Given the description of an element on the screen output the (x, y) to click on. 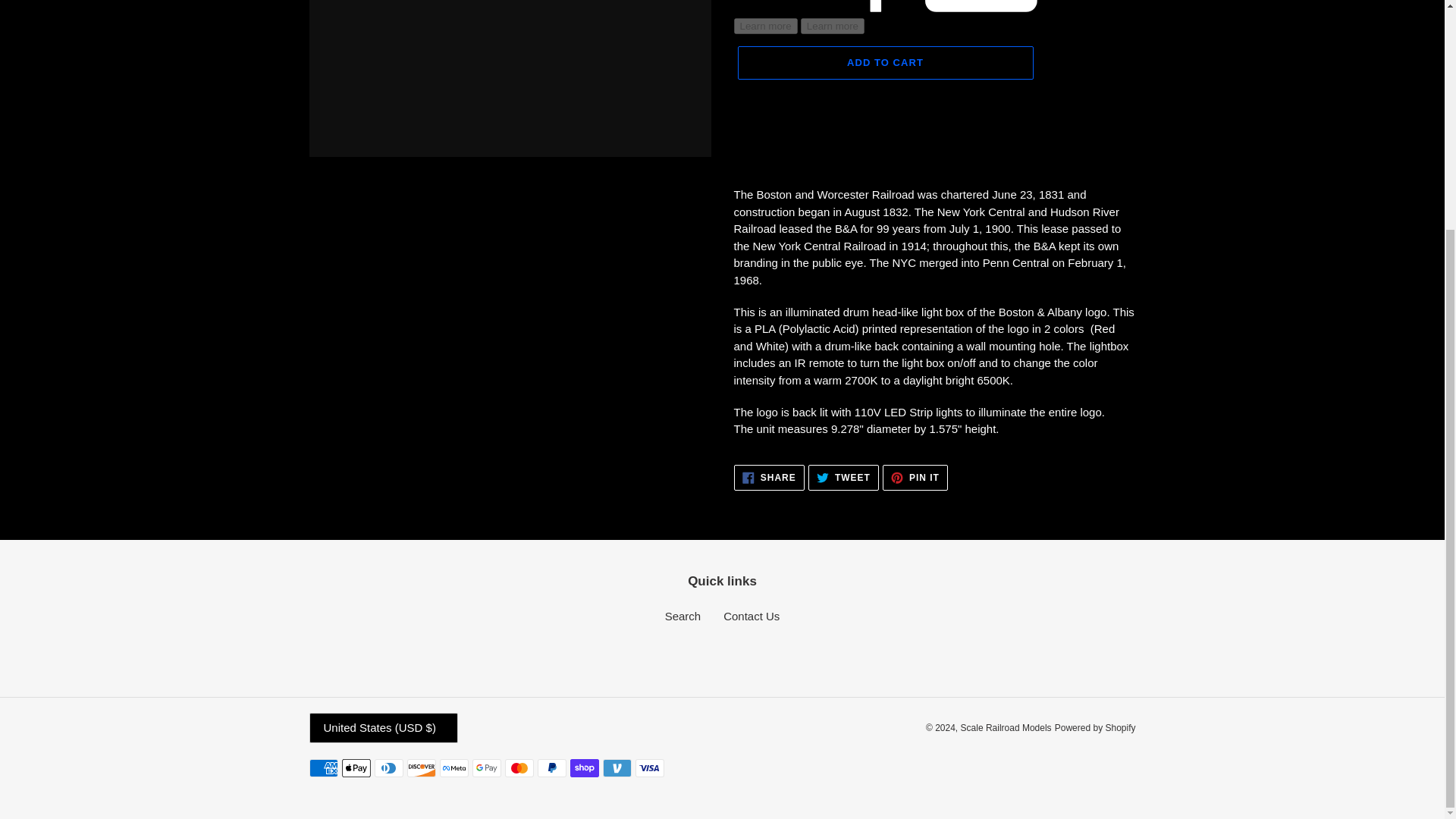
ADD TO CART (769, 476)
Search (884, 62)
